Given the description of an element on the screen output the (x, y) to click on. 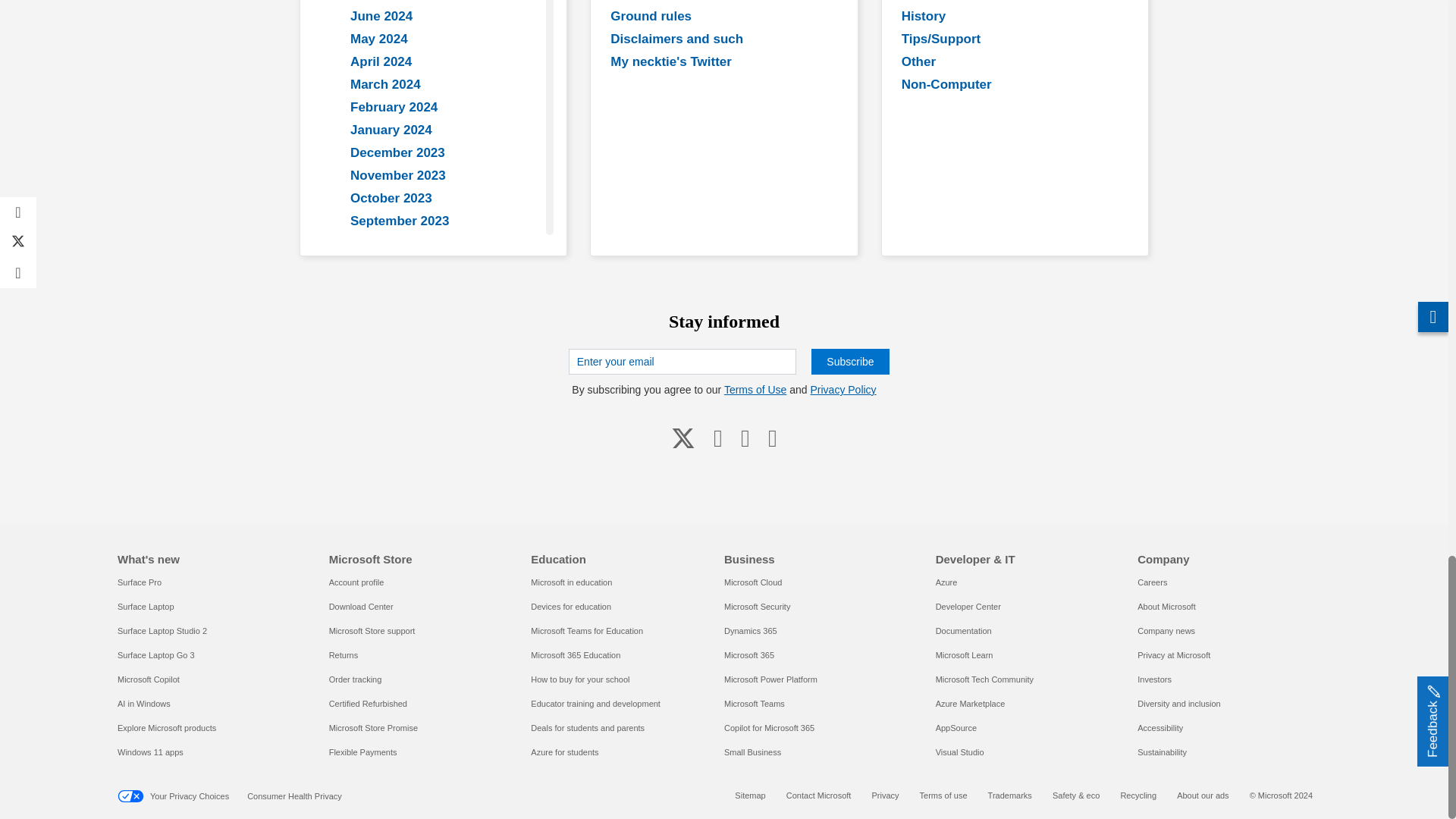
twitter (683, 436)
youtube (718, 436)
Subscribe (849, 361)
RSS Feed (772, 436)
GitHub (745, 436)
